Given the description of an element on the screen output the (x, y) to click on. 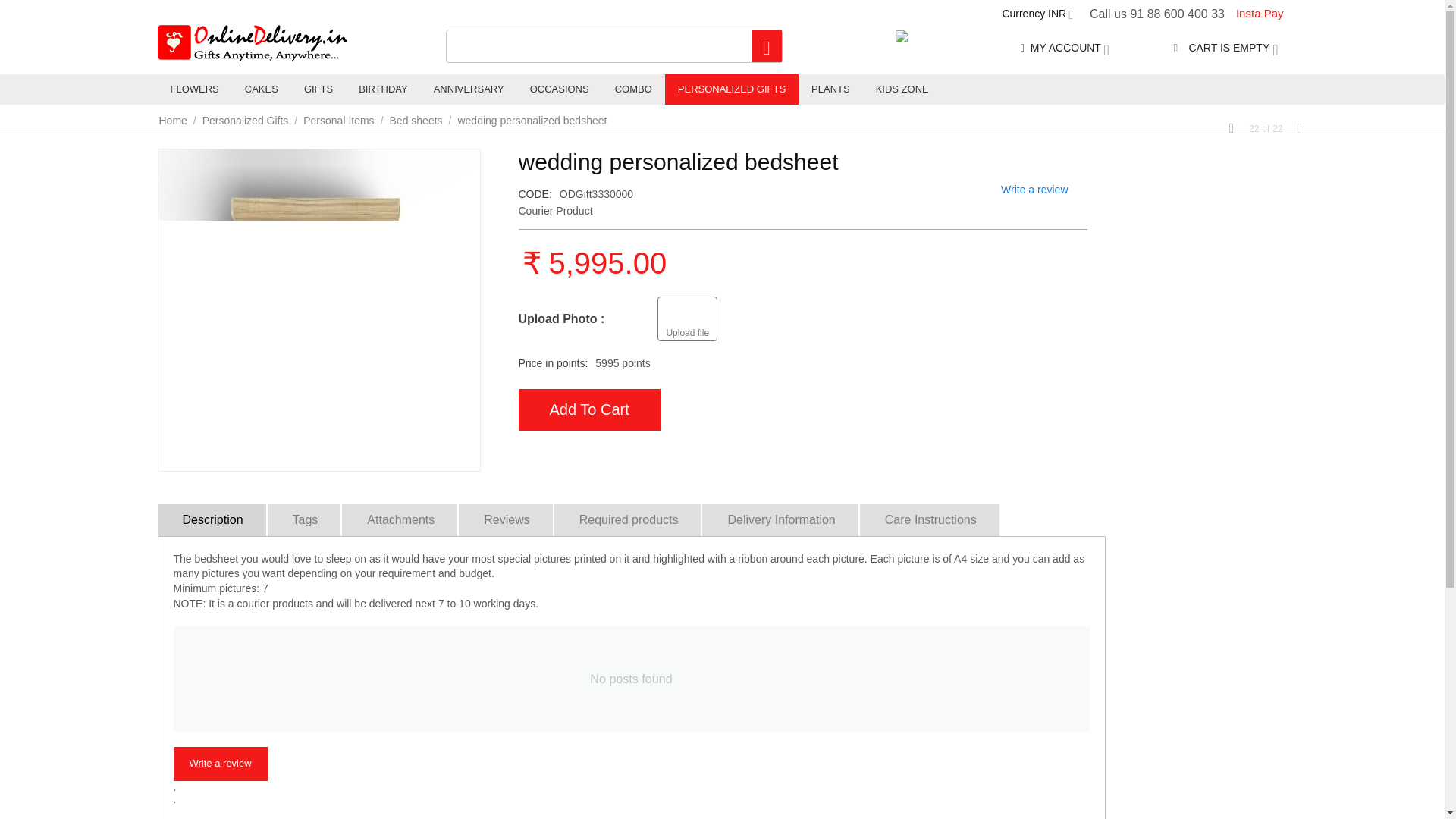
Write a review (219, 763)
Search (766, 46)
wedding personalized bedsheet (318, 309)
CART IS EMPTY (1225, 47)
  MY ACCOUNT (1064, 47)
Search products (614, 46)
FLOWERS (194, 89)
Insta Pay (1259, 13)
Write a review (1034, 189)
Currency INR (1037, 13)
